Given the description of an element on the screen output the (x, y) to click on. 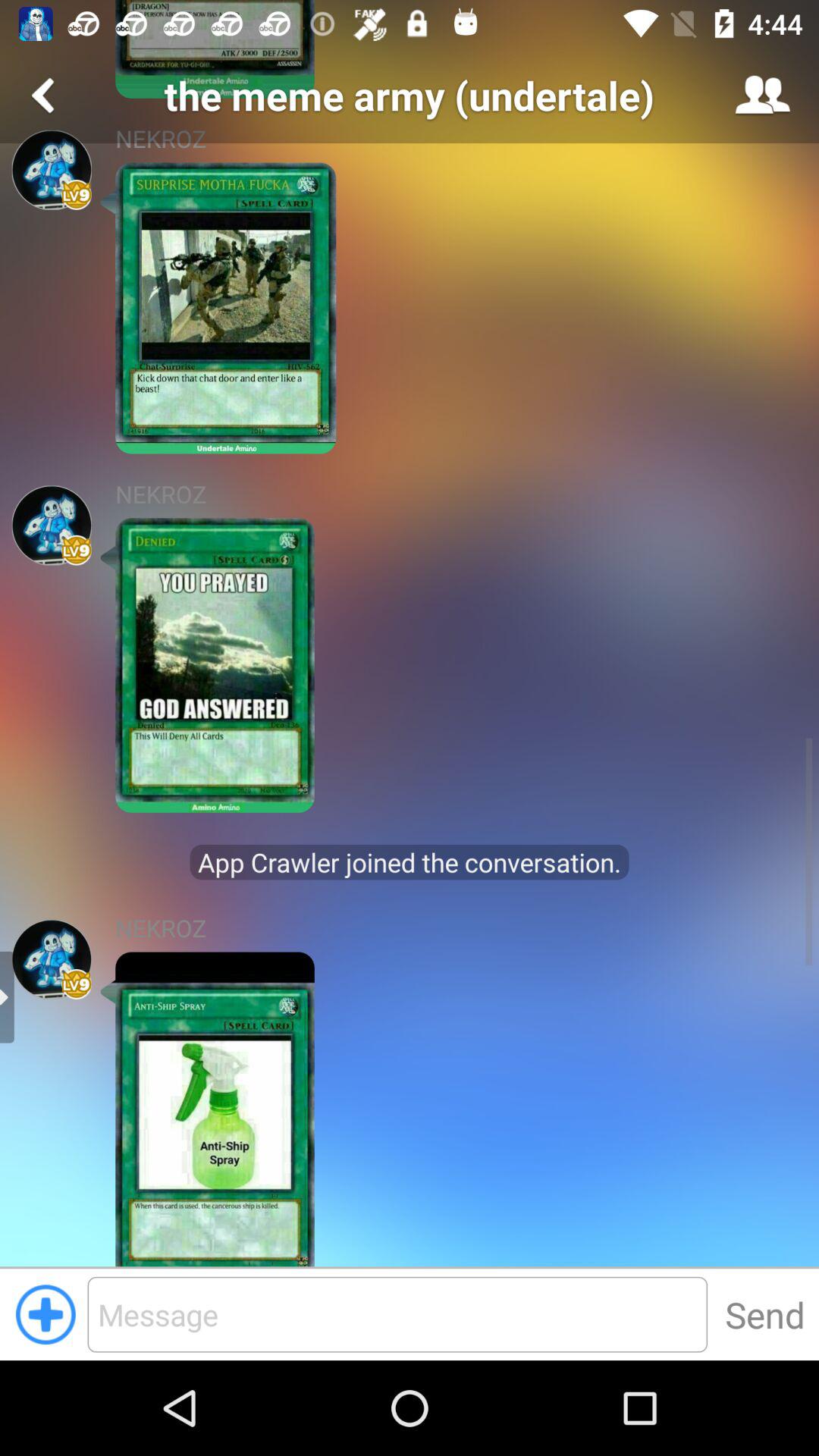
home play (51, 959)
